Given the description of an element on the screen output the (x, y) to click on. 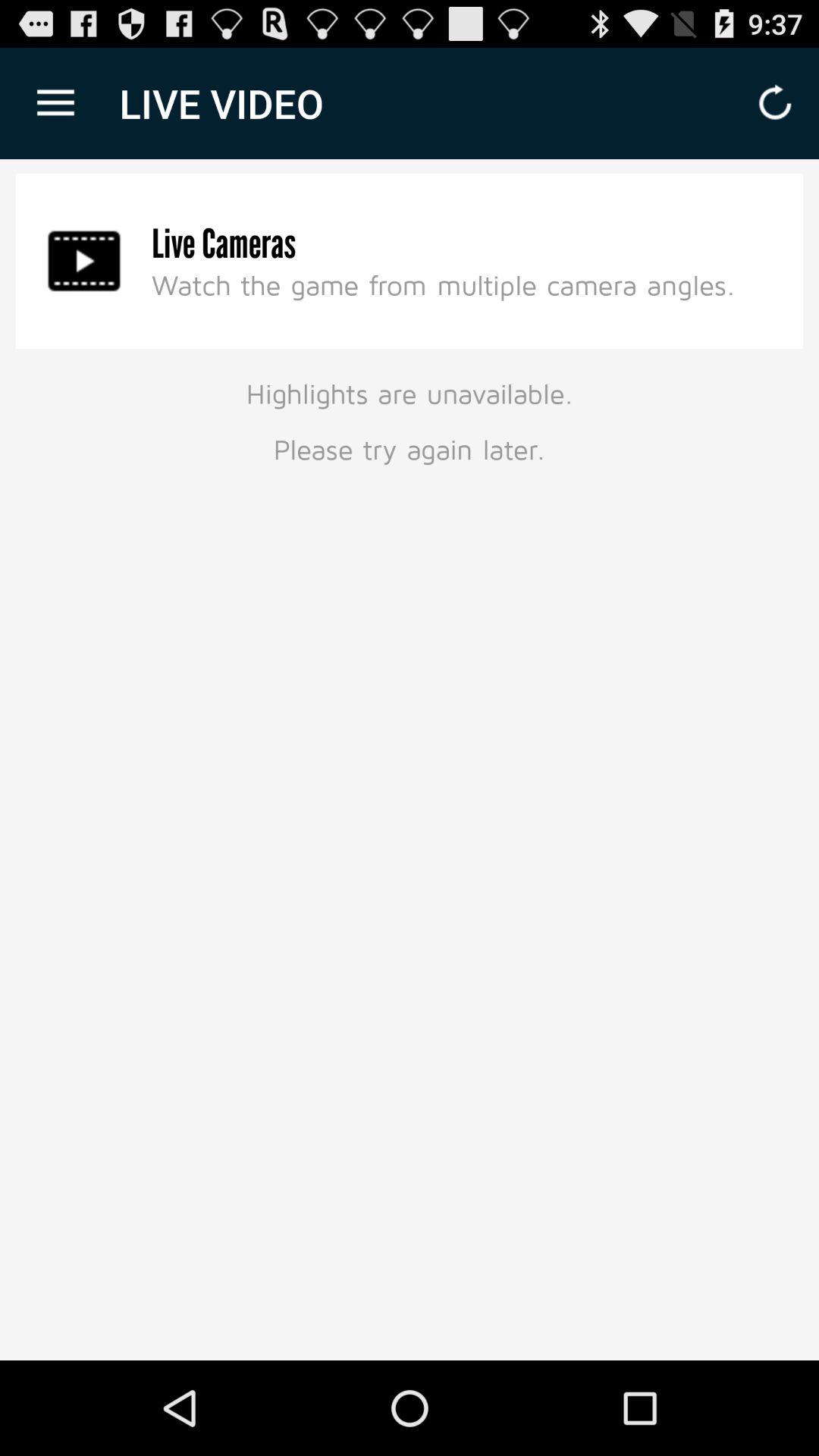
swipe until watch the game icon (443, 284)
